Given the description of an element on the screen output the (x, y) to click on. 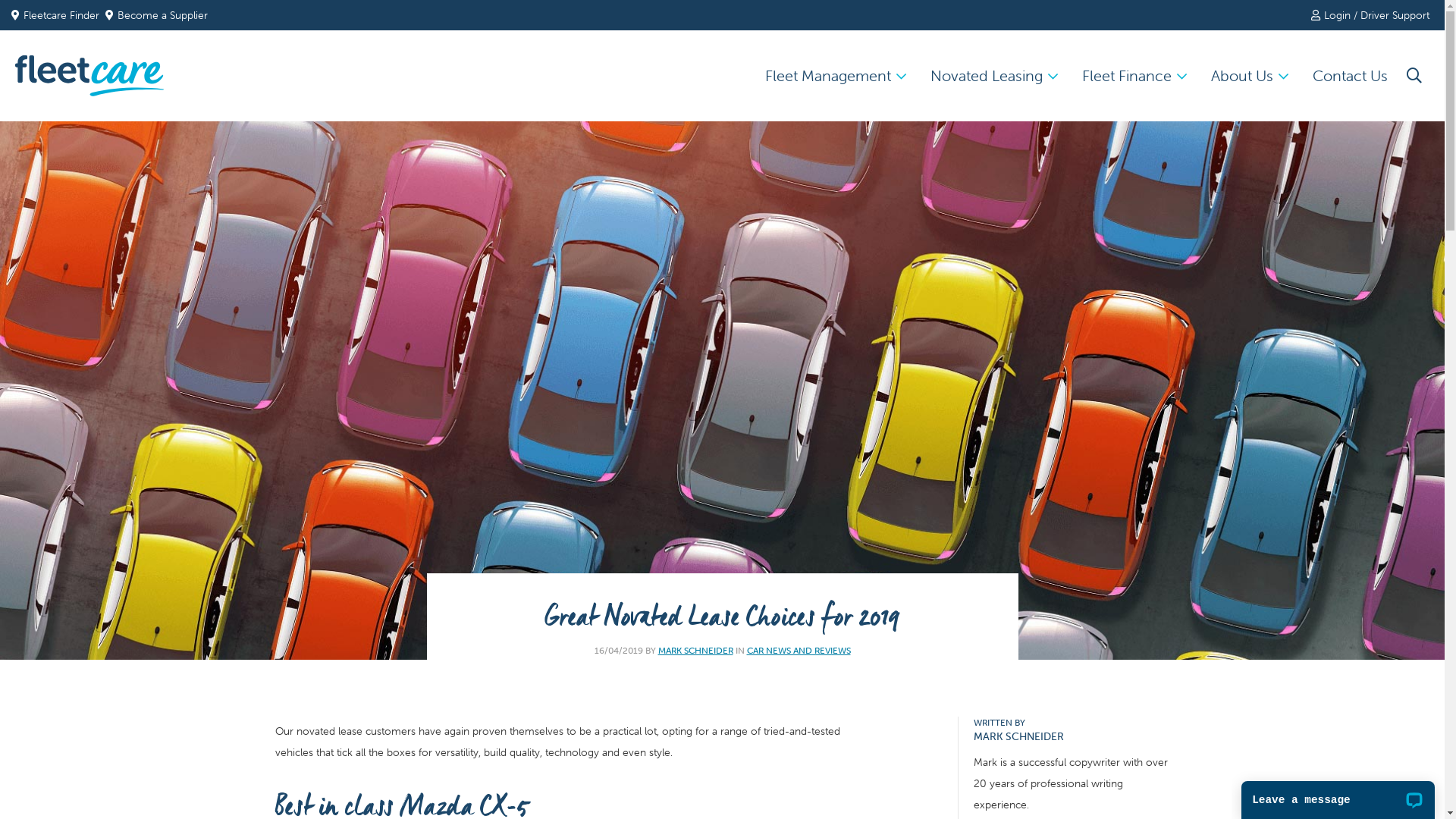
MARK SCHNEIDER Element type: text (695, 649)
Contact Us Element type: text (1349, 75)
Become a Supplier Element type: text (156, 14)
CAR NEWS AND REVIEWS Element type: text (798, 649)
Fleetcare Finder   Element type: text (58, 14)
